Given the description of an element on the screen output the (x, y) to click on. 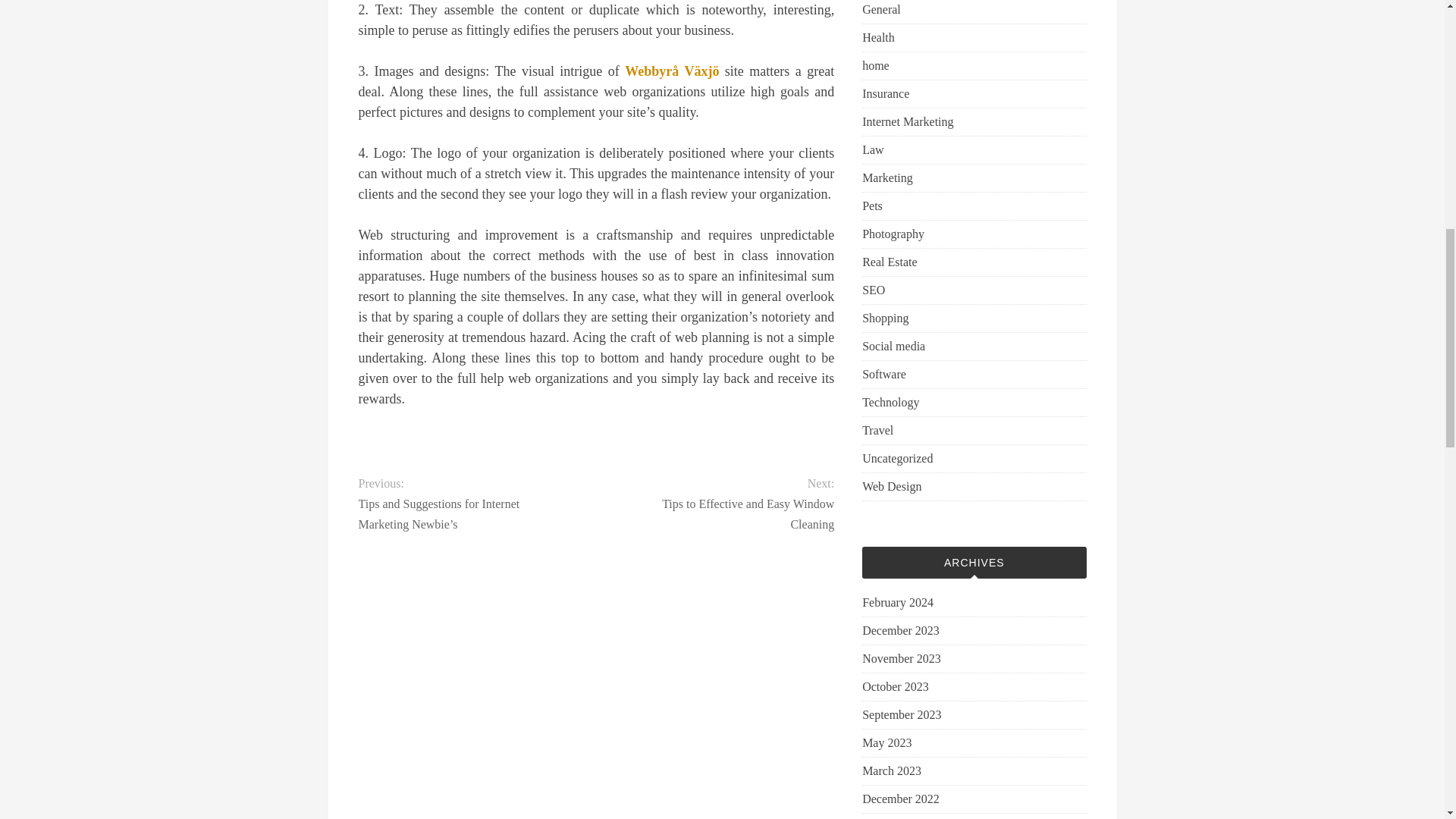
Health (878, 37)
Marketing (886, 177)
Shopping (884, 318)
Internet Marketing (907, 122)
Photography (892, 234)
Insurance (884, 94)
Pets (871, 206)
General (881, 9)
Law (872, 149)
home (875, 65)
SEO (873, 290)
Tips to Effective and Easy Window Cleaning (727, 513)
Real Estate (889, 262)
